Given the description of an element on the screen output the (x, y) to click on. 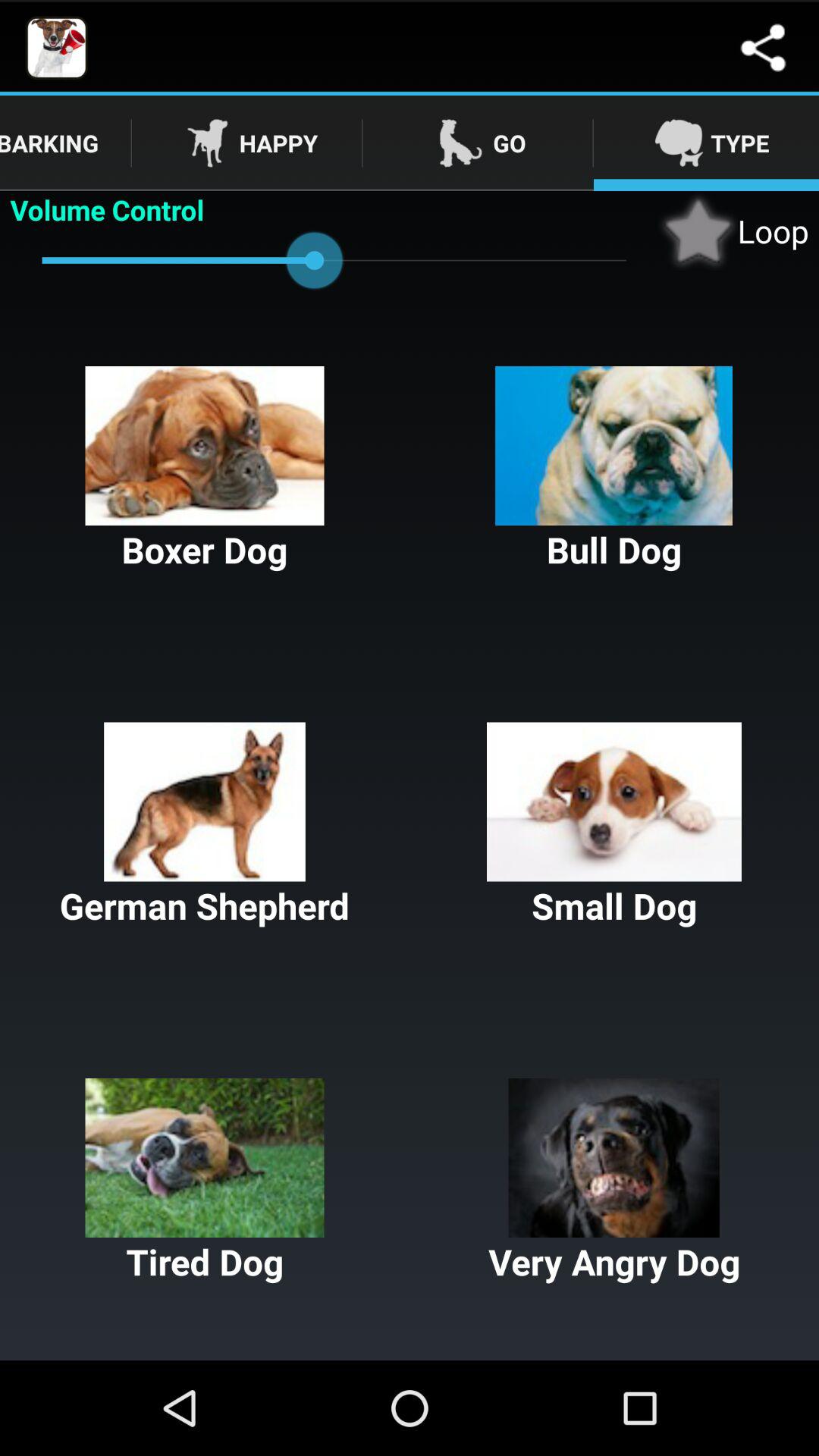
select button to the right of the tired dog (614, 1181)
